Given the description of an element on the screen output the (x, y) to click on. 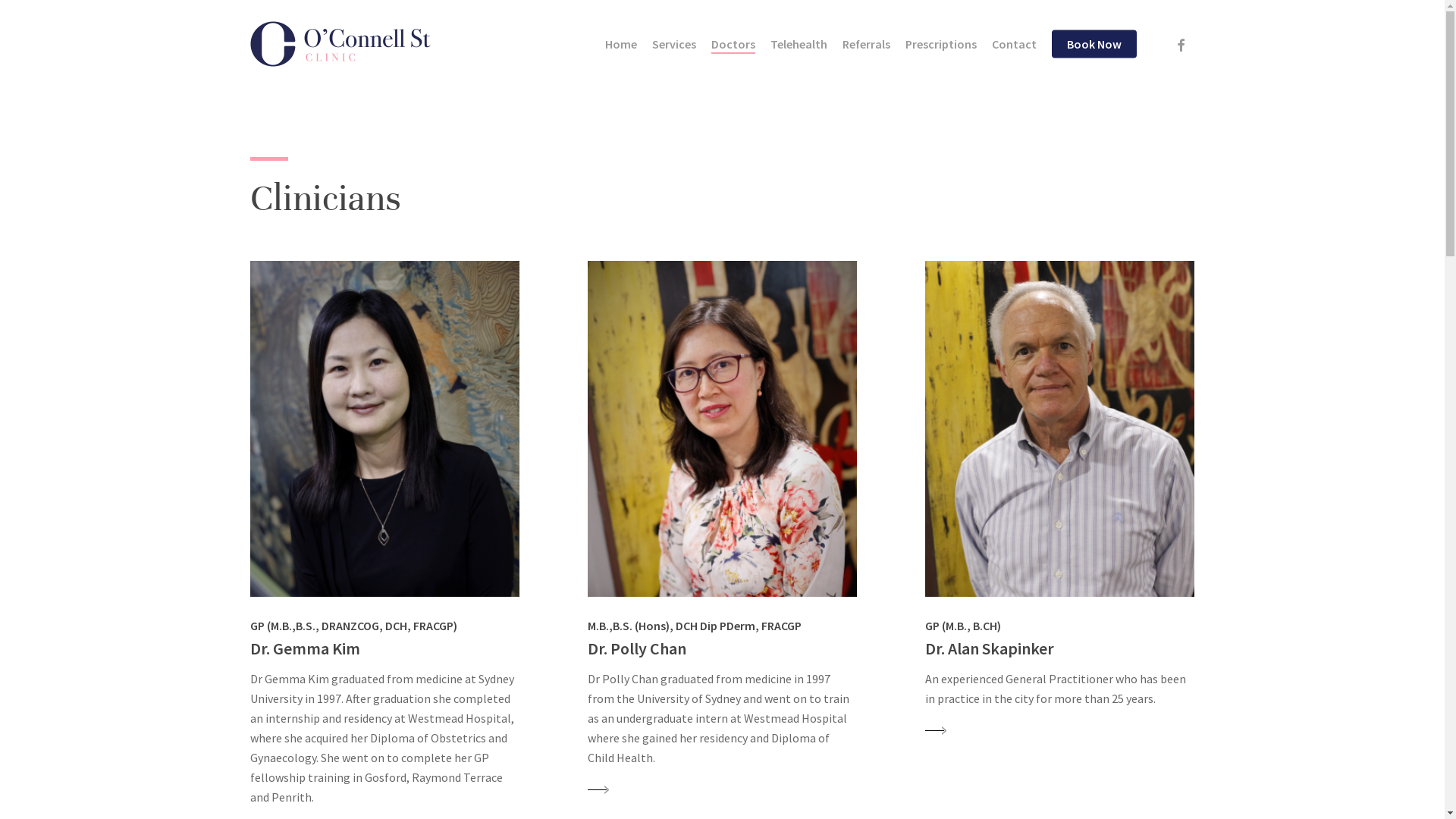
Referrals Element type: text (866, 43)
facebook Element type: text (1180, 43)
Contact Element type: text (1013, 43)
Telehealth Element type: text (798, 43)
Services Element type: text (674, 43)
Doctors Element type: text (733, 43)
Prescriptions Element type: text (940, 43)
Home Element type: text (621, 43)
Book Now Element type: text (1093, 43)
